Given the description of an element on the screen output the (x, y) to click on. 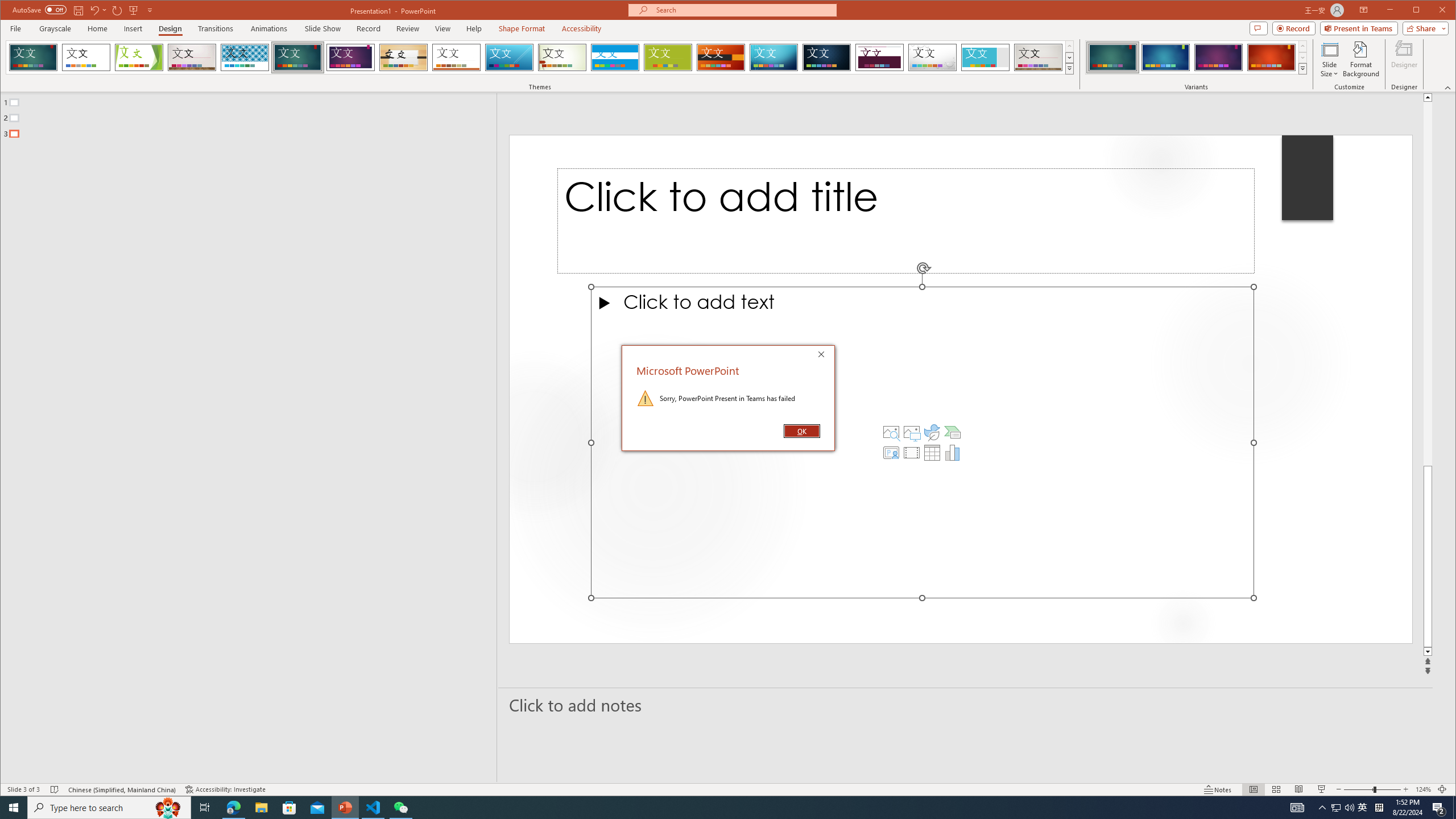
Ion Variant 3 (1218, 57)
Insert Video (911, 452)
Microsoft Store (289, 807)
Line up (1427, 96)
Maximize (1432, 11)
Class: MsoCommandBar (728, 789)
Microsoft search (742, 10)
